Given the description of an element on the screen output the (x, y) to click on. 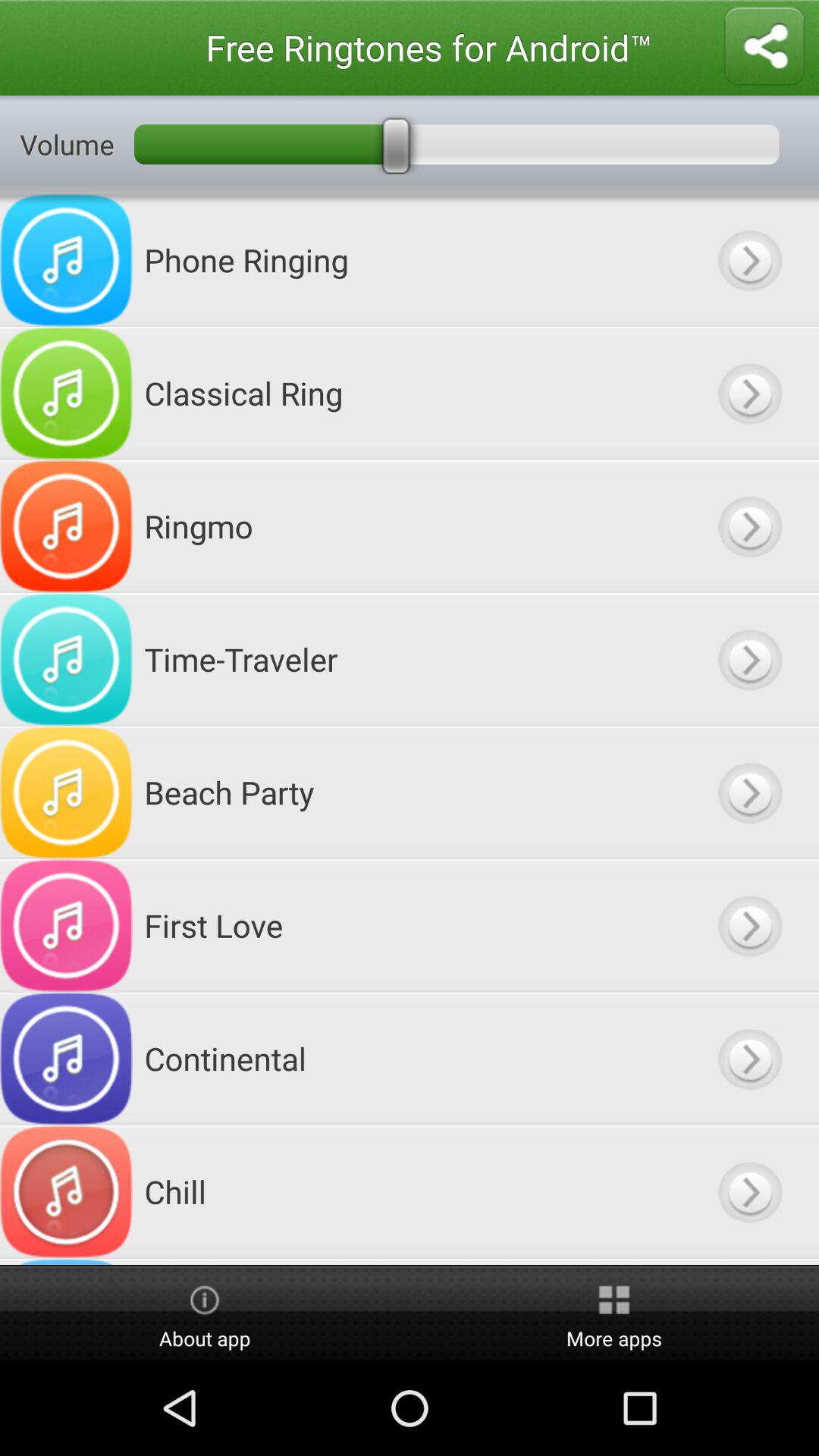
click the next (749, 1191)
